Given the description of an element on the screen output the (x, y) to click on. 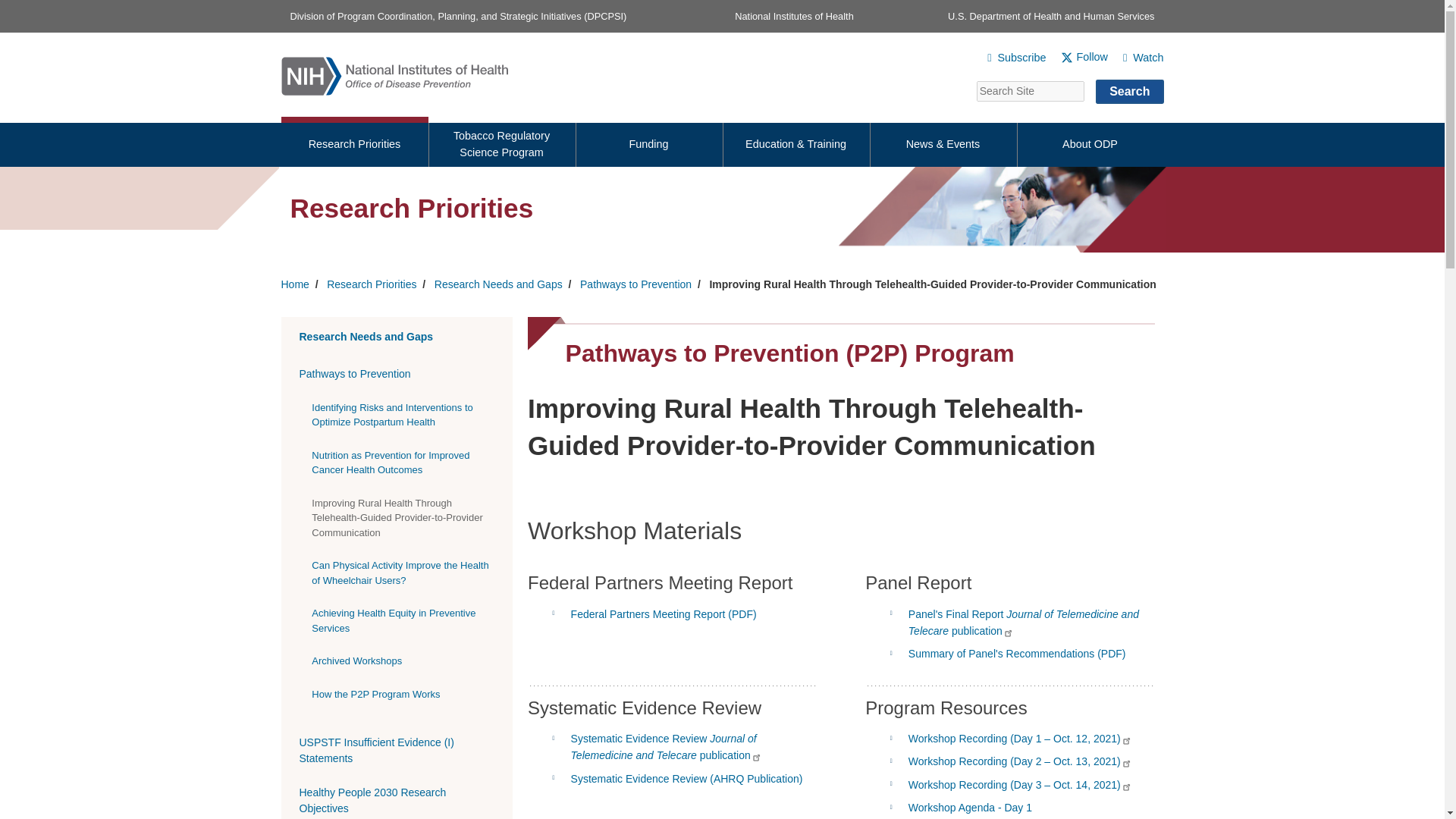
Search (1129, 91)
U.S. Department of Health and Human Services (1050, 16)
National Institutes of Health (794, 16)
Watch (1135, 57)
Search (1129, 91)
Follow (1076, 57)
Search (1129, 91)
Subscribe (1008, 57)
Research Priorities (354, 142)
Funding (648, 142)
Tobacco Regulatory Science Program (501, 142)
